Given the description of an element on the screen output the (x, y) to click on. 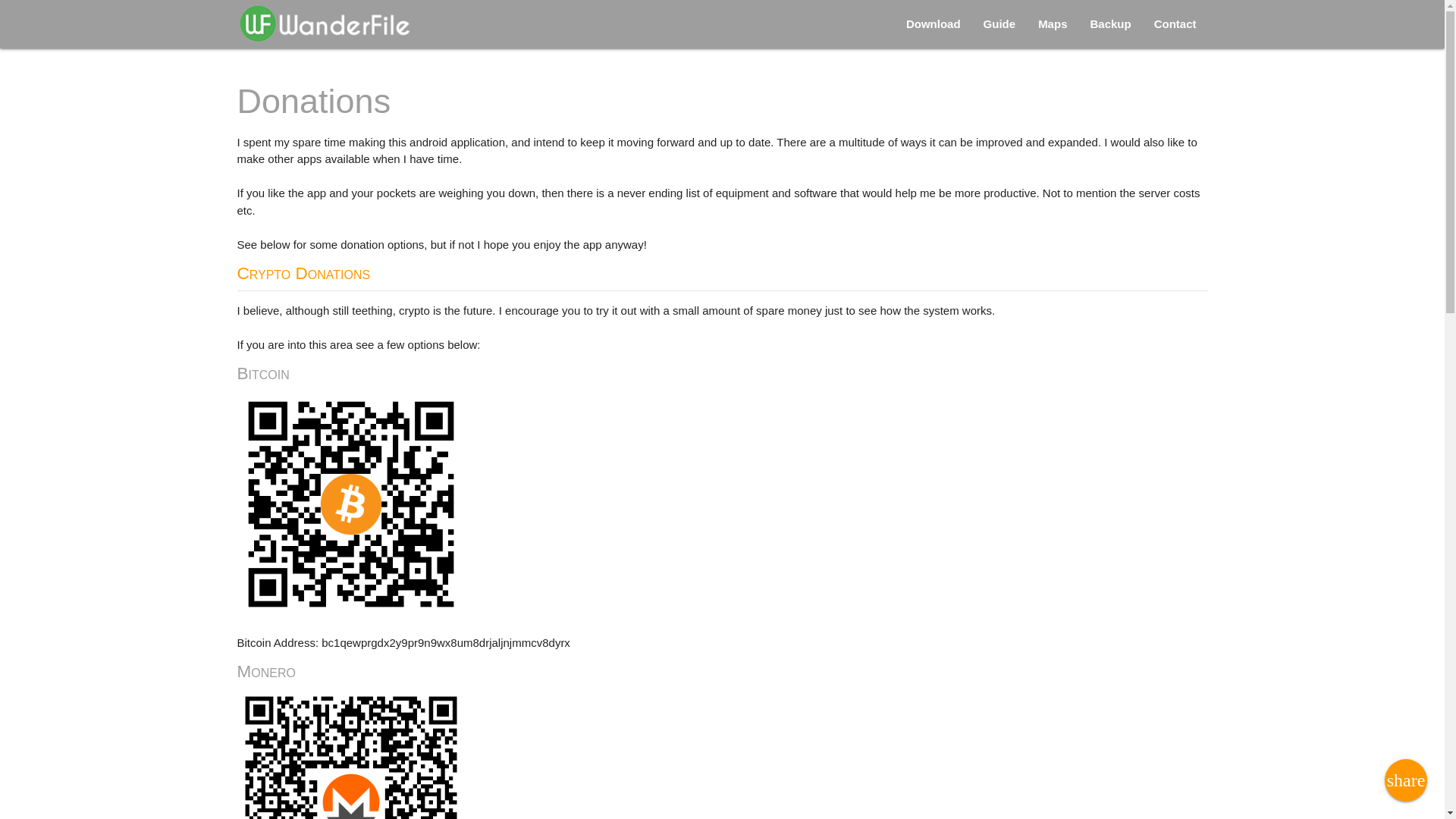
Contact (1175, 24)
share (1405, 780)
Backup (1109, 24)
Maps (1052, 24)
Download (933, 24)
Guide (999, 24)
